Given the description of an element on the screen output the (x, y) to click on. 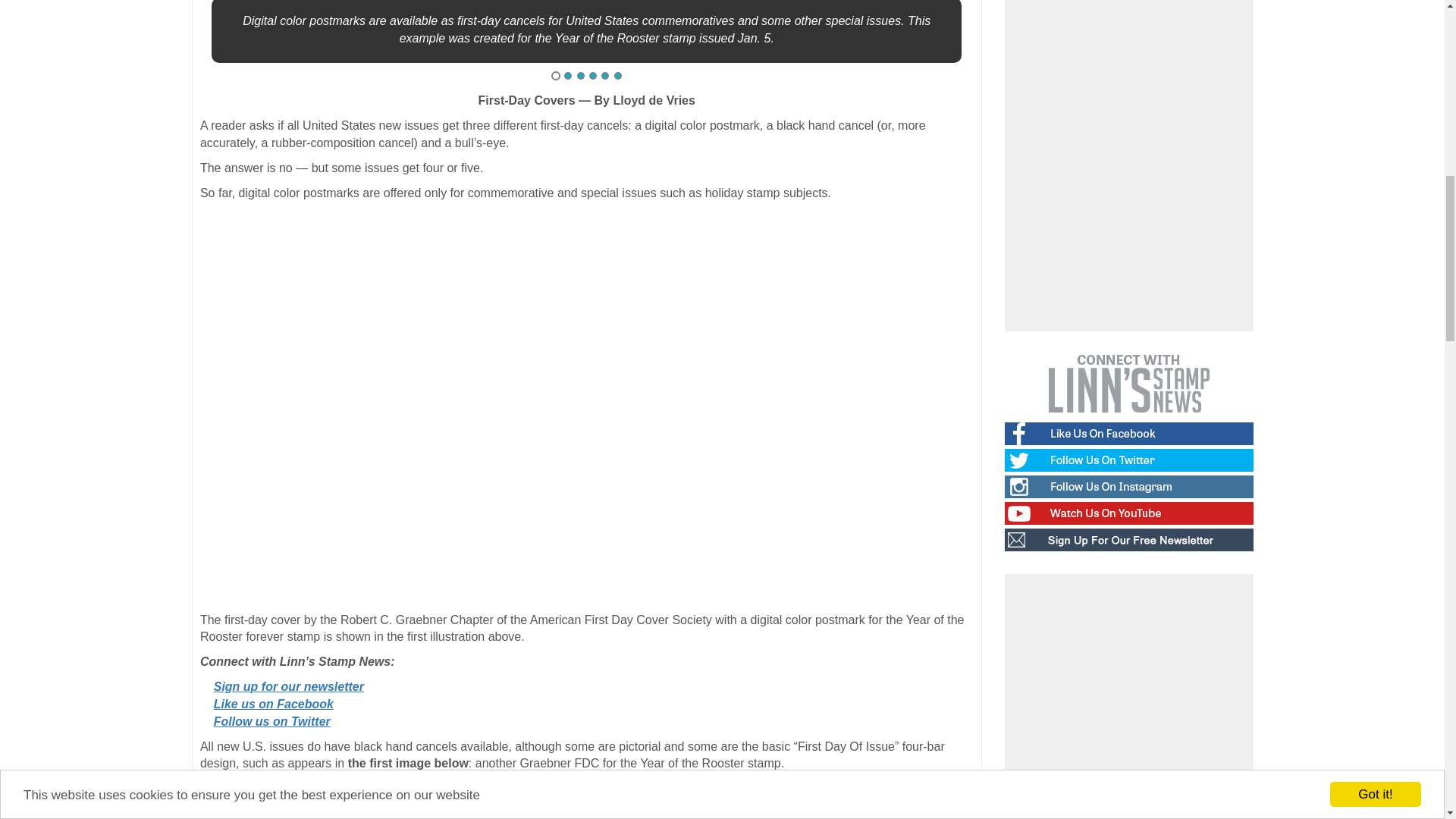
Got it! (1375, 38)
